Given the description of an element on the screen output the (x, y) to click on. 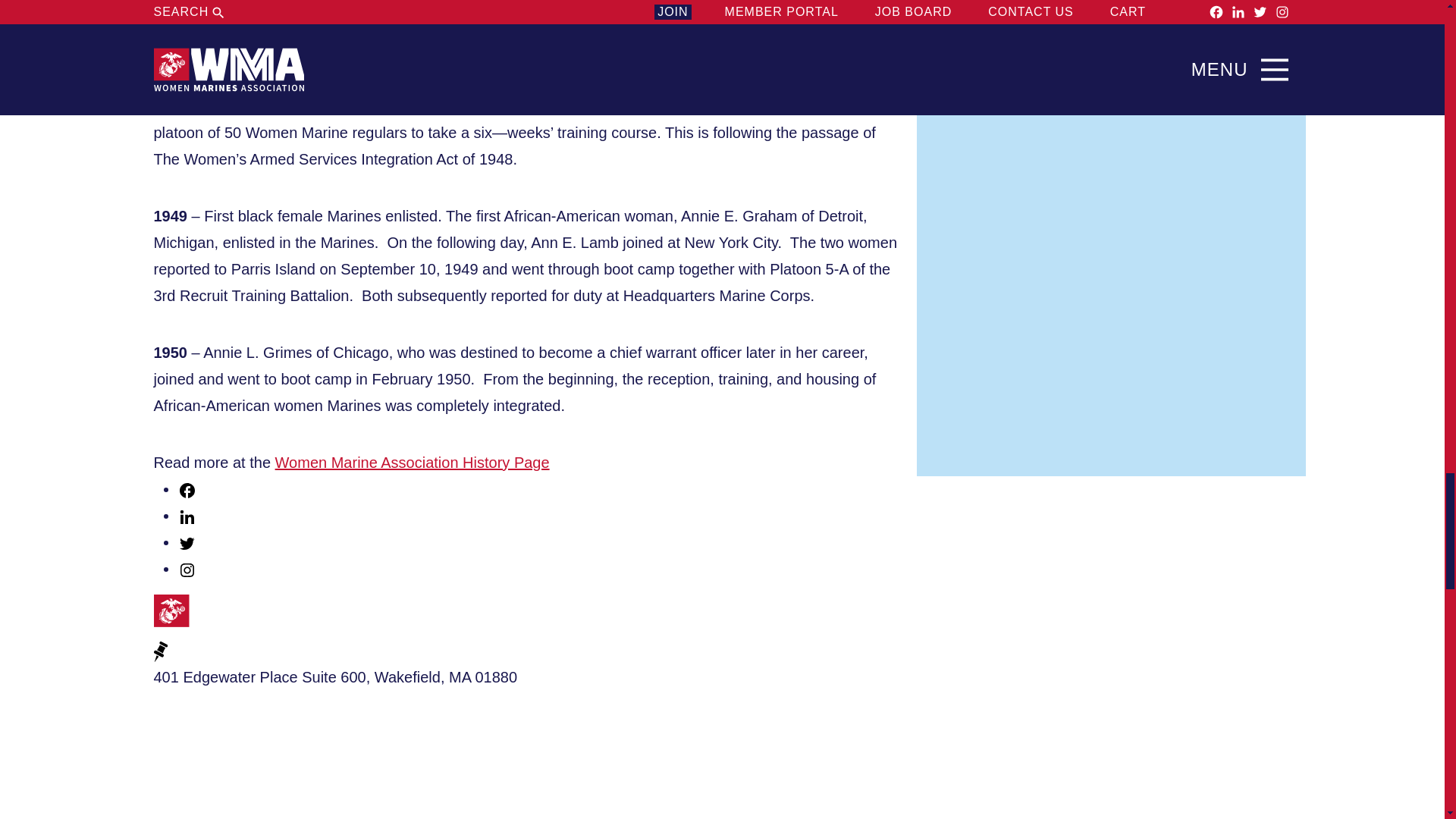
Women Marines Association (227, 616)
Instagram (186, 568)
Linkedin (186, 516)
Twitter (186, 541)
Linkedin (186, 515)
Twitter (186, 543)
Facebook (186, 488)
